Given the description of an element on the screen output the (x, y) to click on. 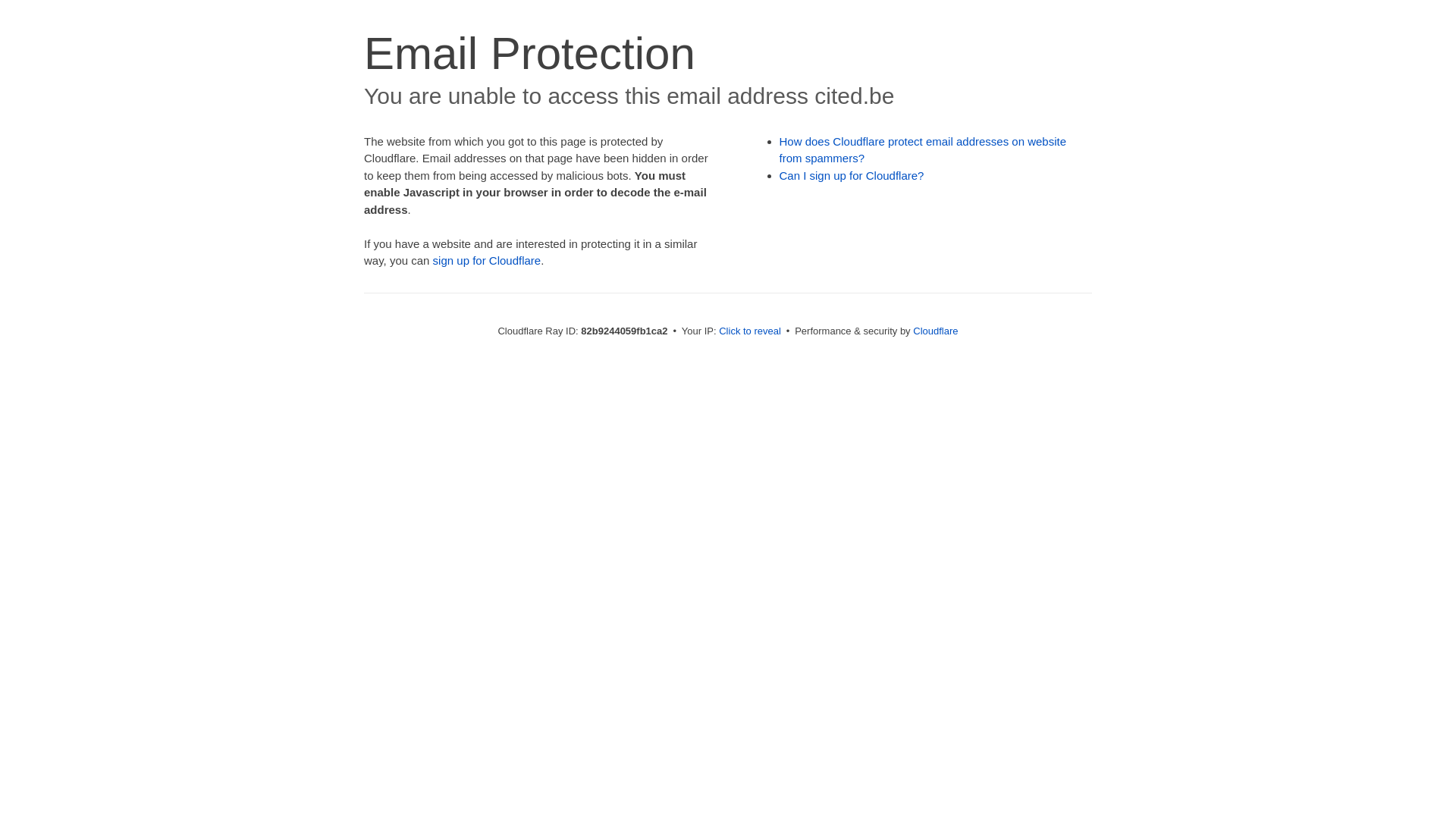
Click to reveal Element type: text (749, 330)
Can I sign up for Cloudflare? Element type: text (851, 175)
Cloudflare Element type: text (935, 330)
sign up for Cloudflare Element type: text (487, 260)
